Given the description of an element on the screen output the (x, y) to click on. 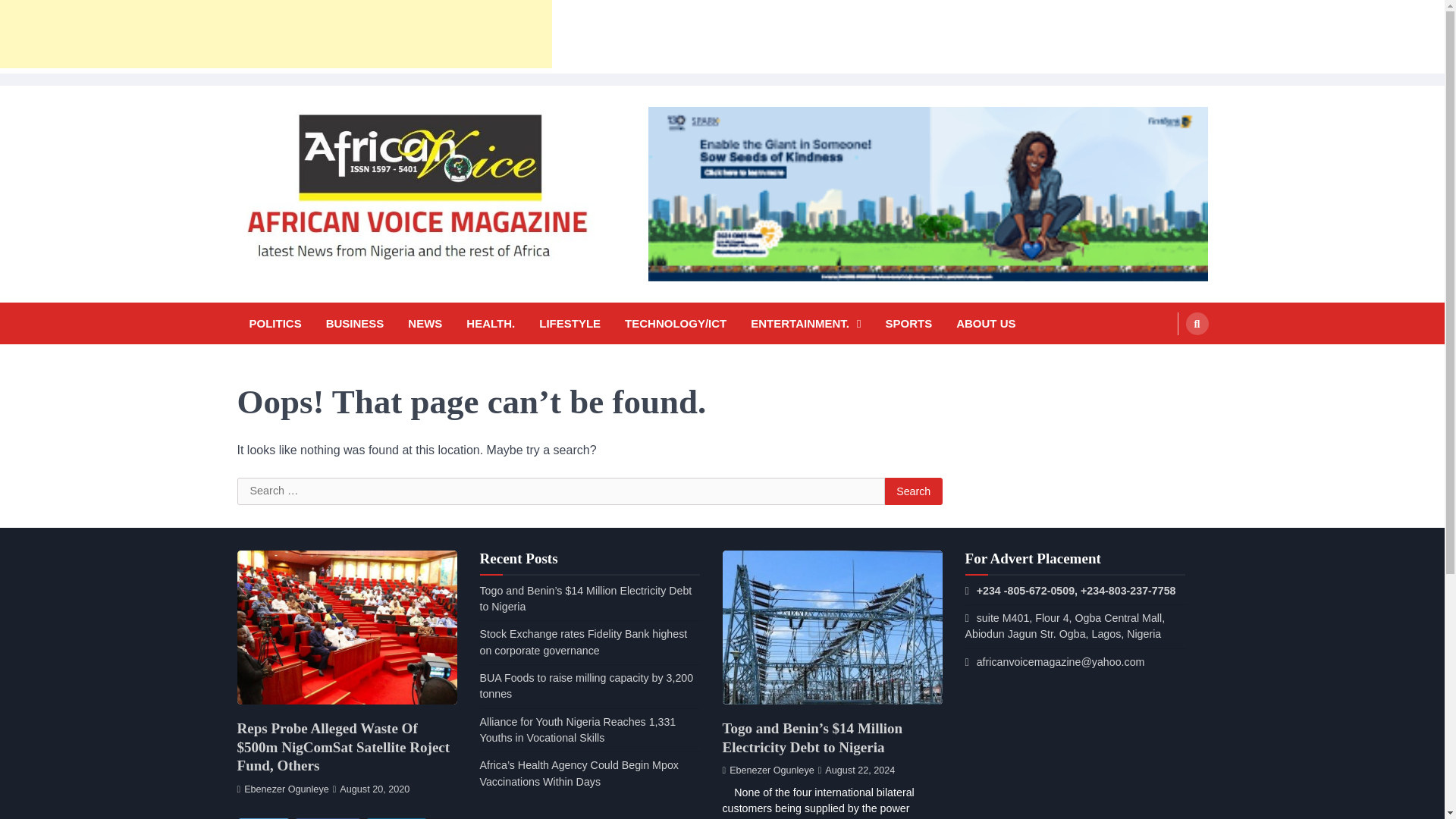
LIFESTYLE (569, 323)
BUSINESS (355, 323)
Search (1168, 359)
Twitter (262, 818)
August 22, 2024 (856, 769)
BUA Foods to raise milling capacity by 3,200 tonnes (586, 685)
HEALTH. (490, 323)
Ebenezer Ogunleye (282, 788)
Search (1197, 323)
